Given the description of an element on the screen output the (x, y) to click on. 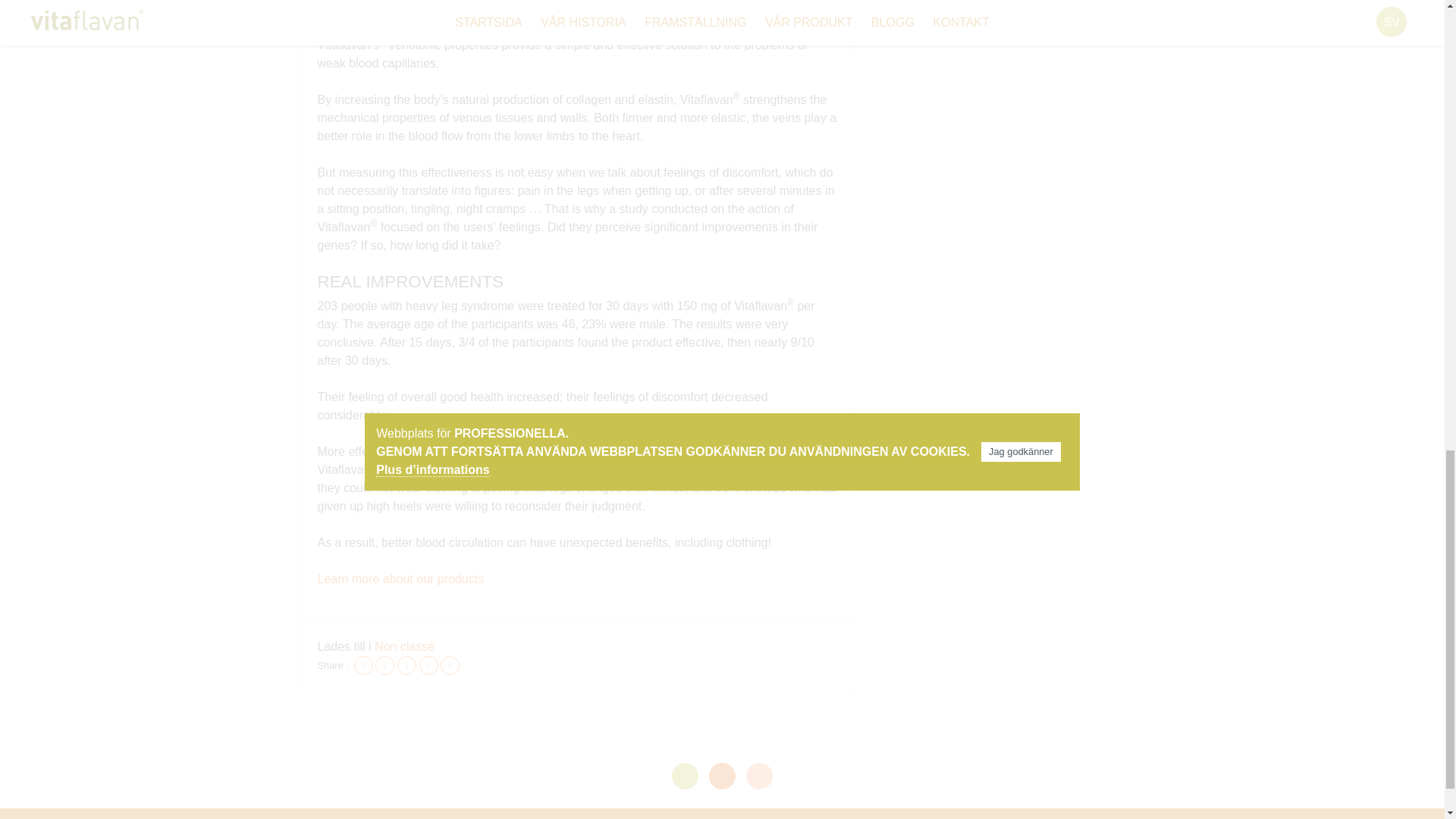
Twitter (384, 665)
Facebook (362, 665)
Envoyer par mail (450, 665)
Linkedin (428, 665)
Learn more about our products (400, 578)
